Given the description of an element on the screen output the (x, y) to click on. 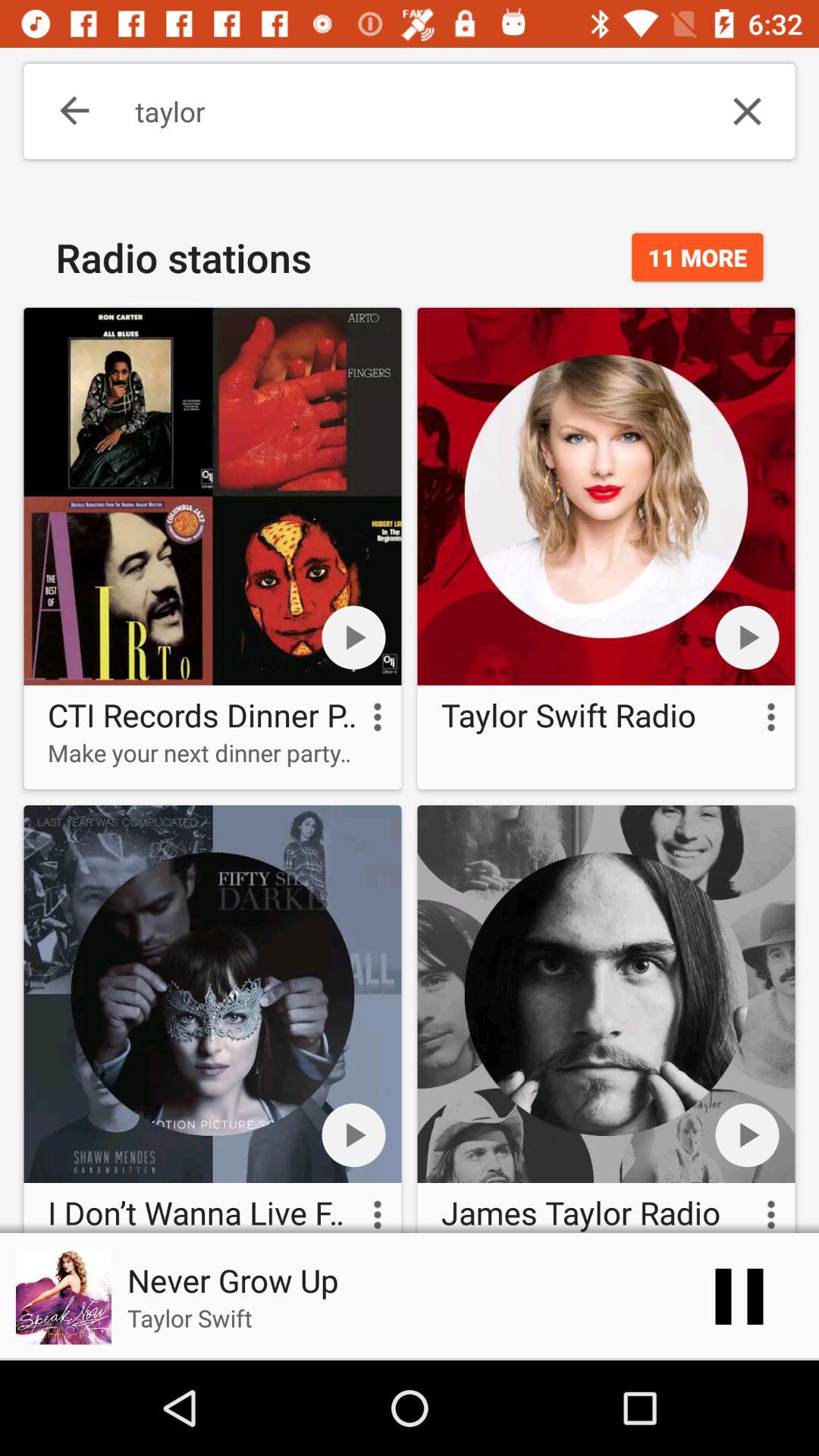
press the 11 more icon (697, 257)
